Given the description of an element on the screen output the (x, y) to click on. 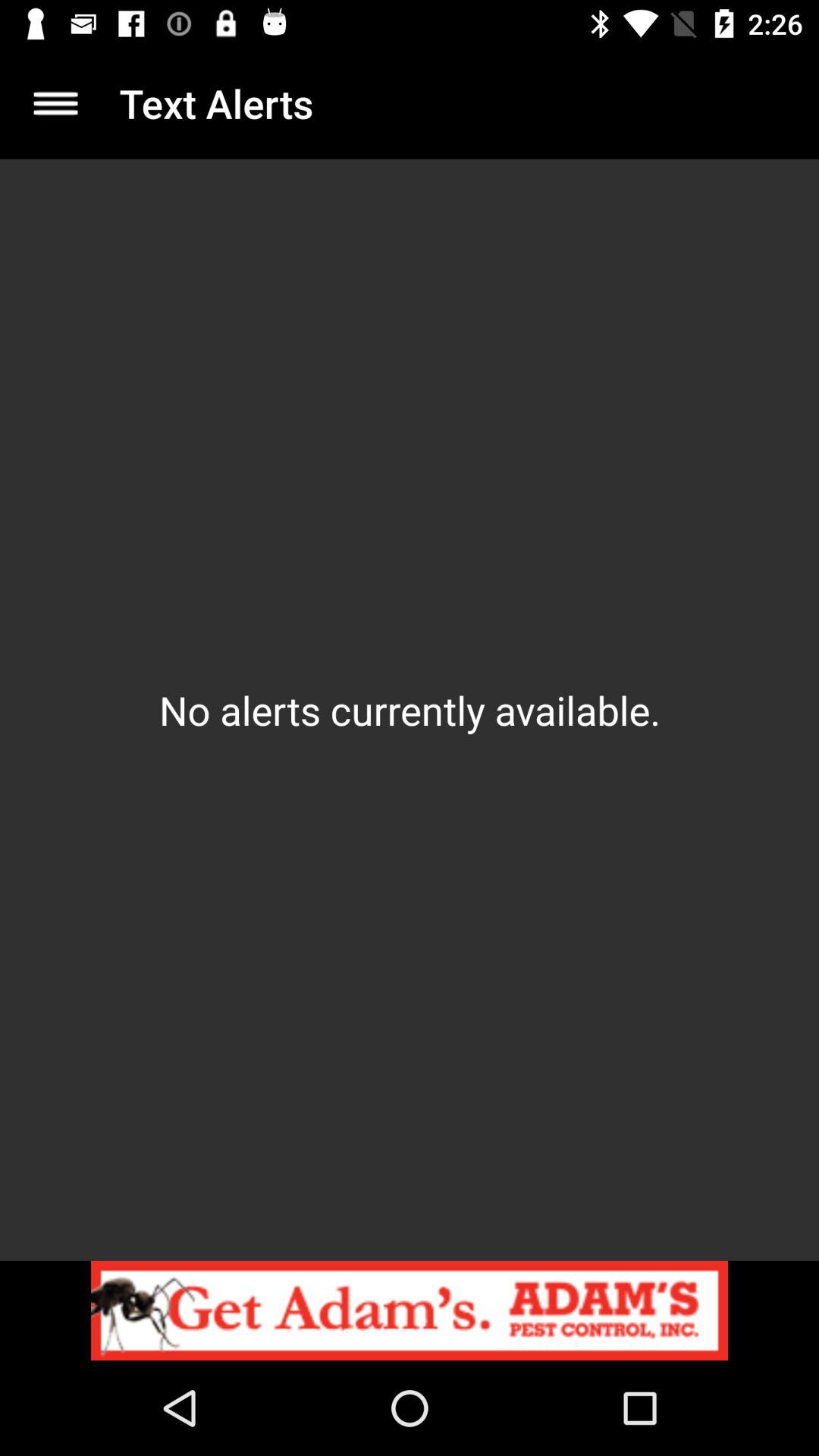
tap to view advertisement (409, 1310)
